Given the description of an element on the screen output the (x, y) to click on. 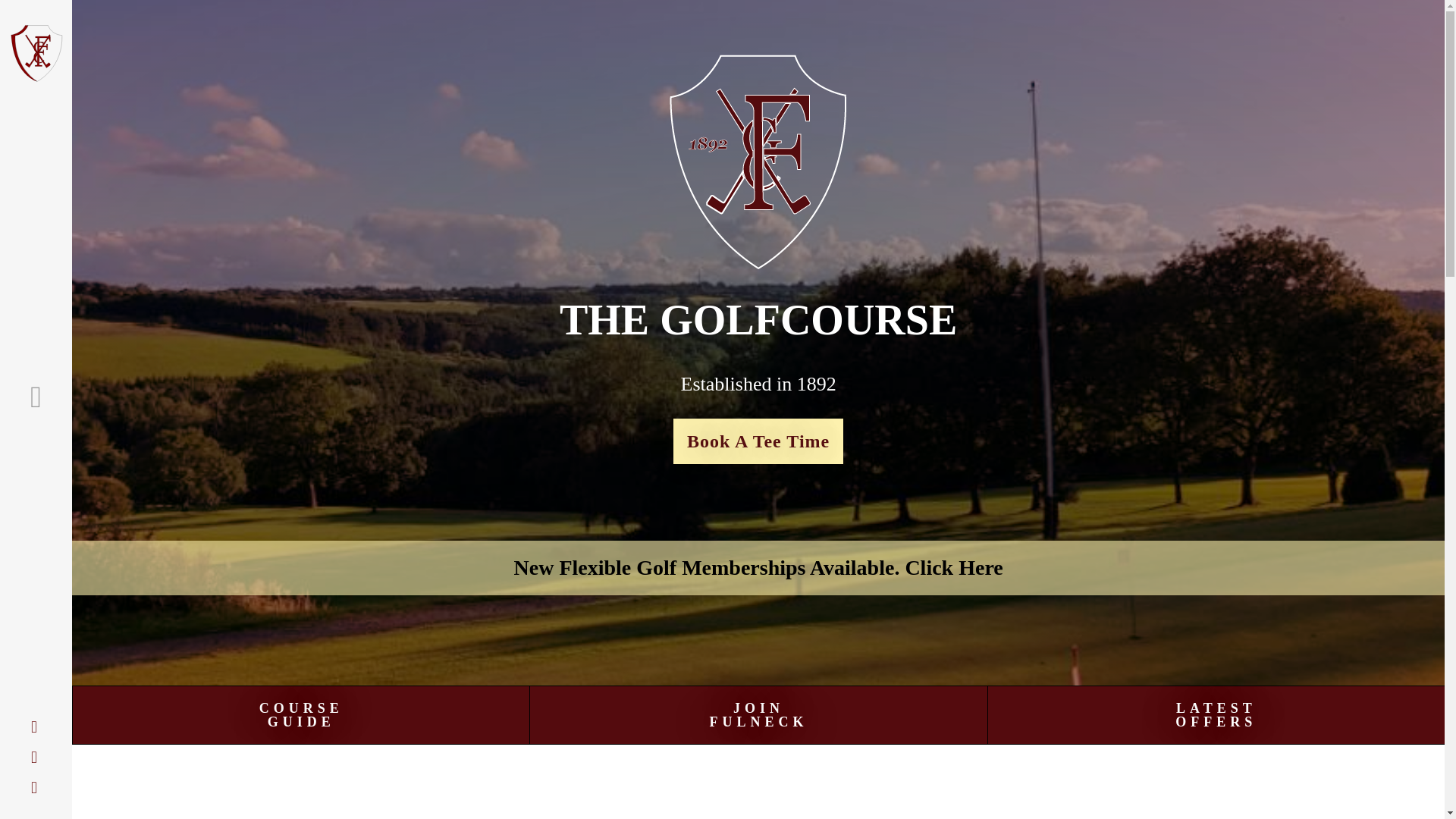
New Flexible Golf Memberships Available. Click Here (1215, 714)
Book A Tee Time (300, 714)
